Given the description of an element on the screen output the (x, y) to click on. 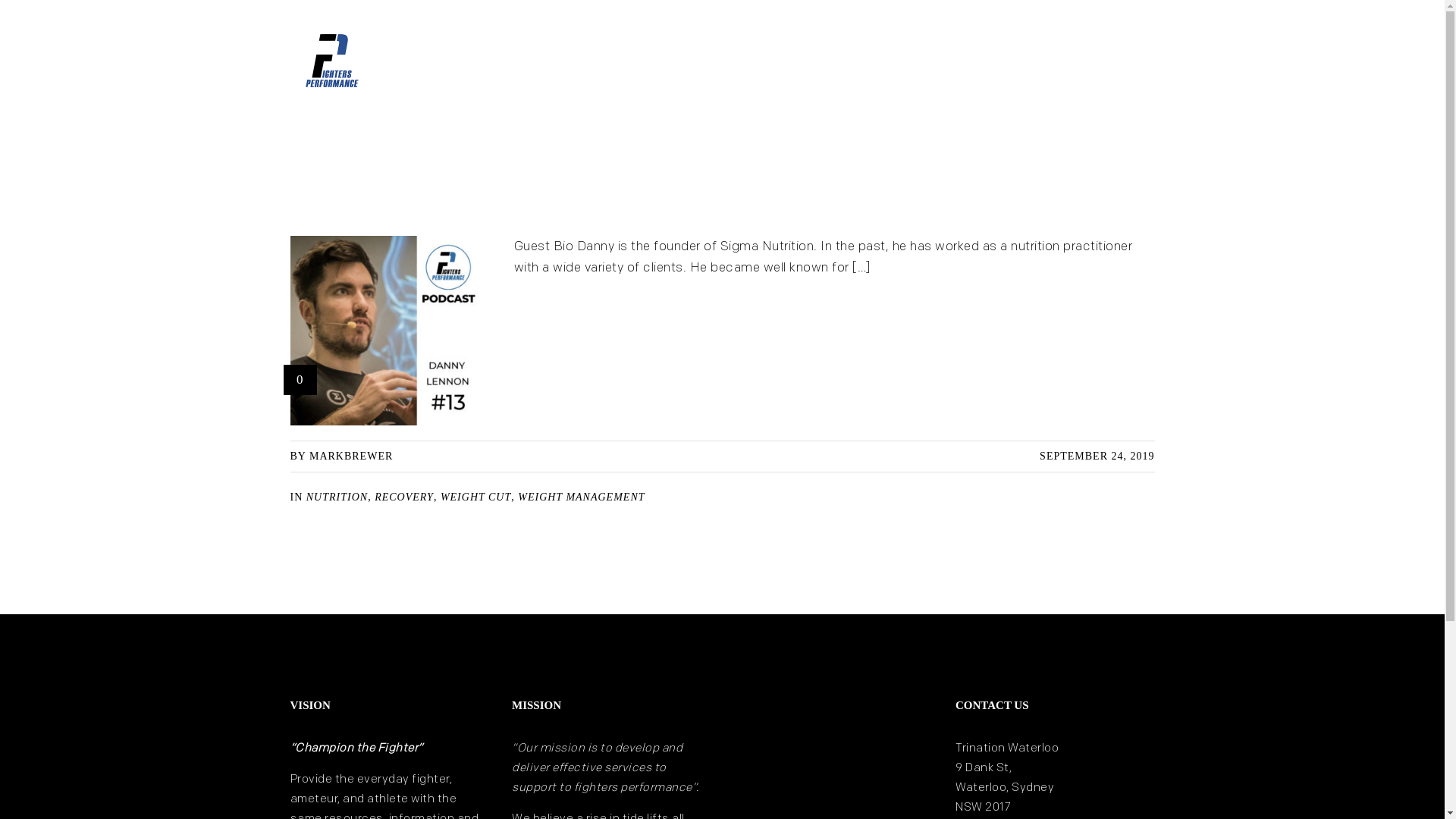
RESOURCES Element type: text (1009, 52)
NUTRITION Element type: text (336, 496)
0 Element type: text (299, 379)
SEPTEMBER 24, 2019 Element type: text (1096, 455)
WEIGHT MANAGEMENT Element type: text (580, 496)
RECOVERY Element type: text (403, 496)
SERVICES Element type: text (928, 52)
WEIGHT CUT Element type: text (475, 496)
MARKBREWER Element type: text (350, 455)
ABOUT // CONTACT Element type: text (1110, 52)
